Given the description of an element on the screen output the (x, y) to click on. 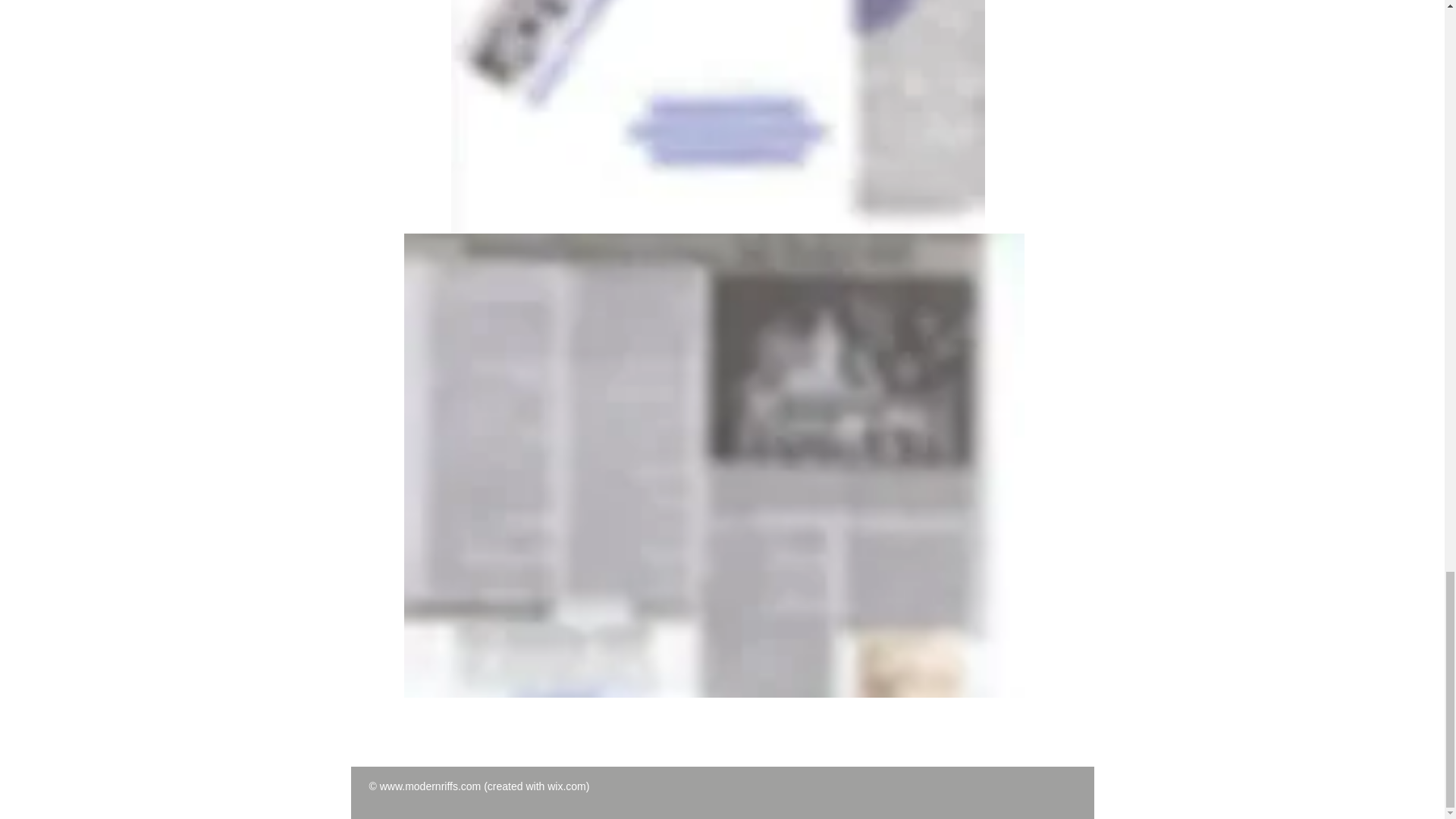
www.modernriffs.com (430, 786)
